Given the description of an element on the screen output the (x, y) to click on. 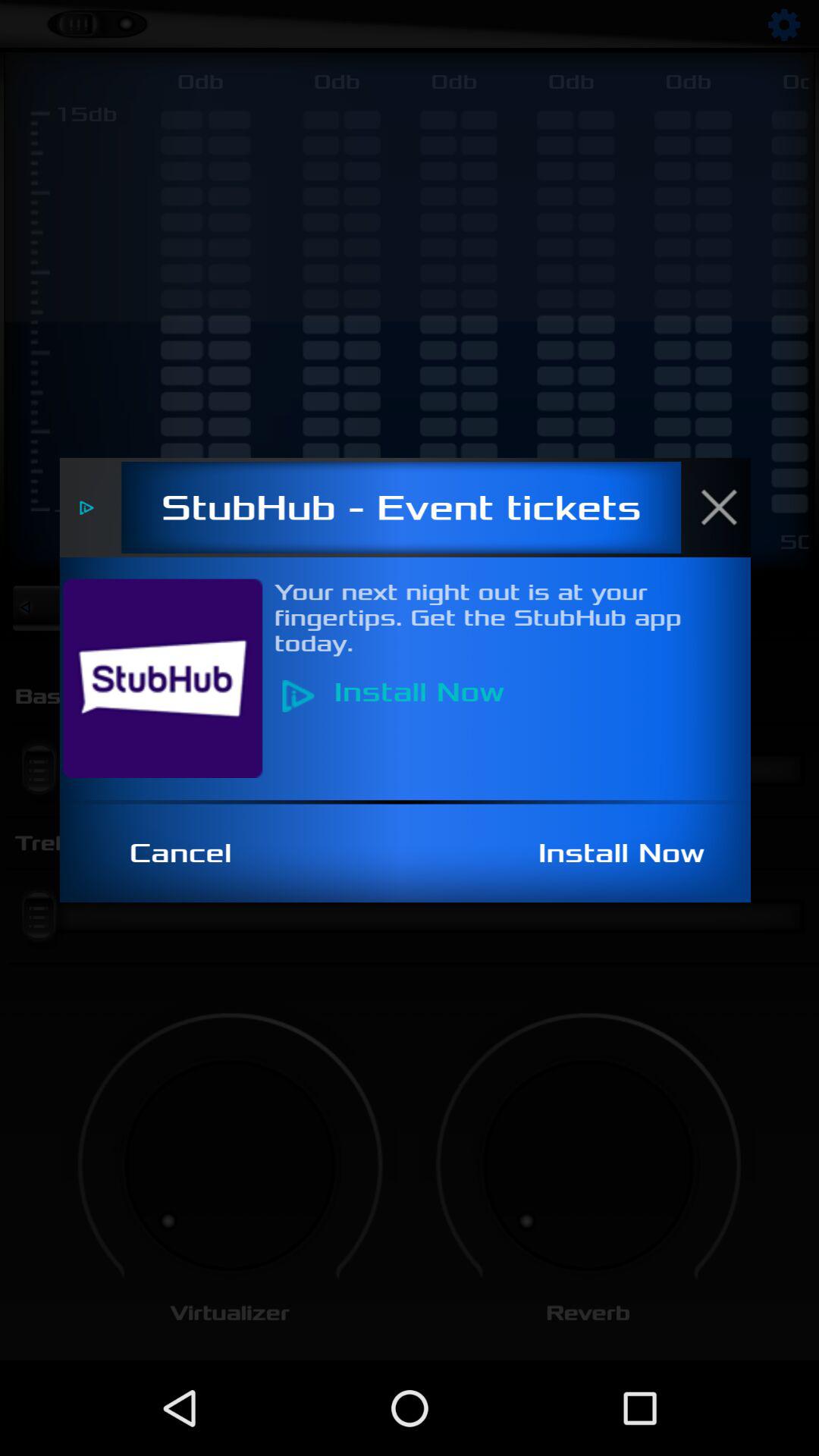
turn off item to the right of the stubhub - event tickets item (727, 507)
